Given the description of an element on the screen output the (x, y) to click on. 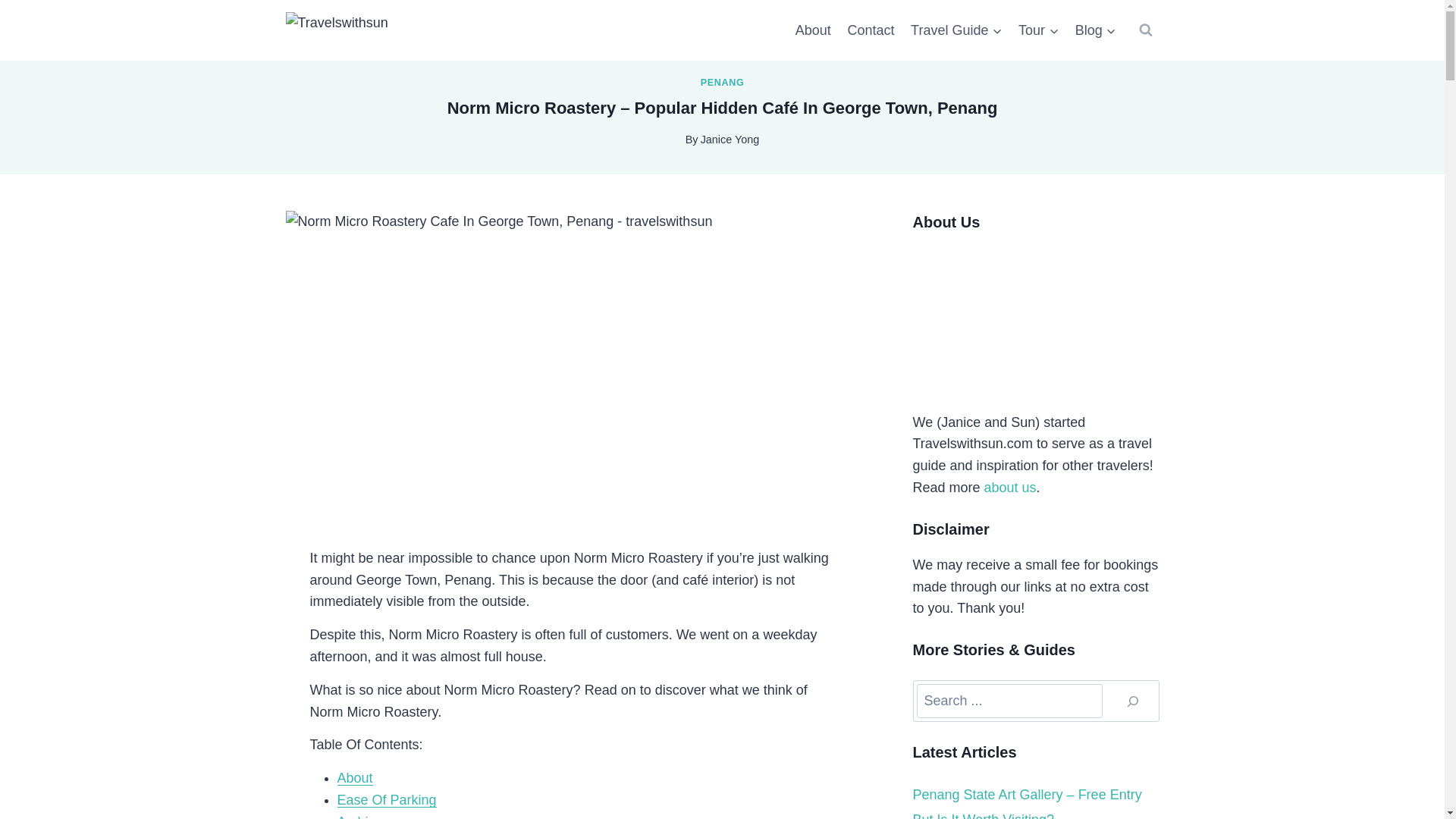
About (813, 30)
Tour (1038, 30)
About (354, 777)
Travel Guide (956, 30)
Ease Of Parking (385, 799)
Janice Yong (730, 139)
Blog (1095, 30)
Contact (871, 30)
PENANG (722, 81)
Ambiance (366, 816)
